Given the description of an element on the screen output the (x, y) to click on. 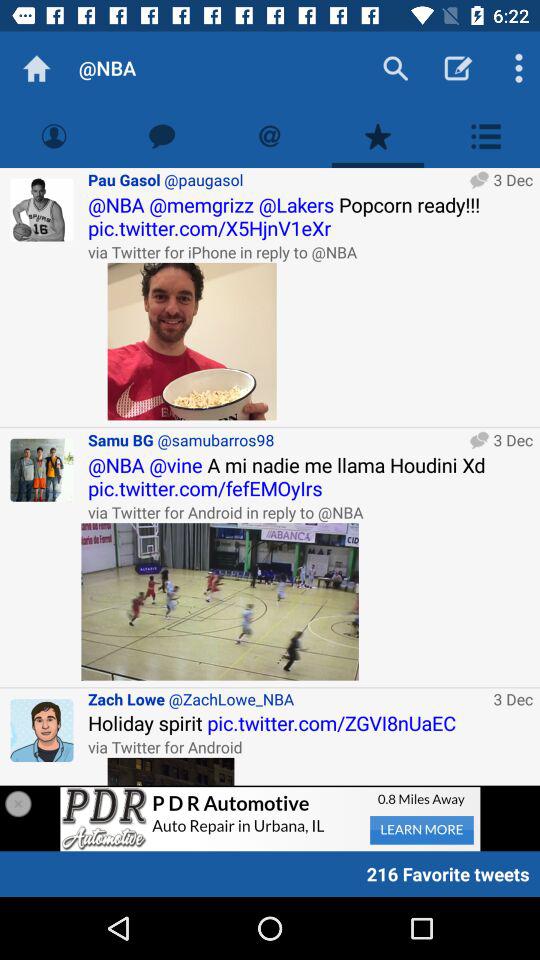
view image (219, 601)
